Given the description of an element on the screen output the (x, y) to click on. 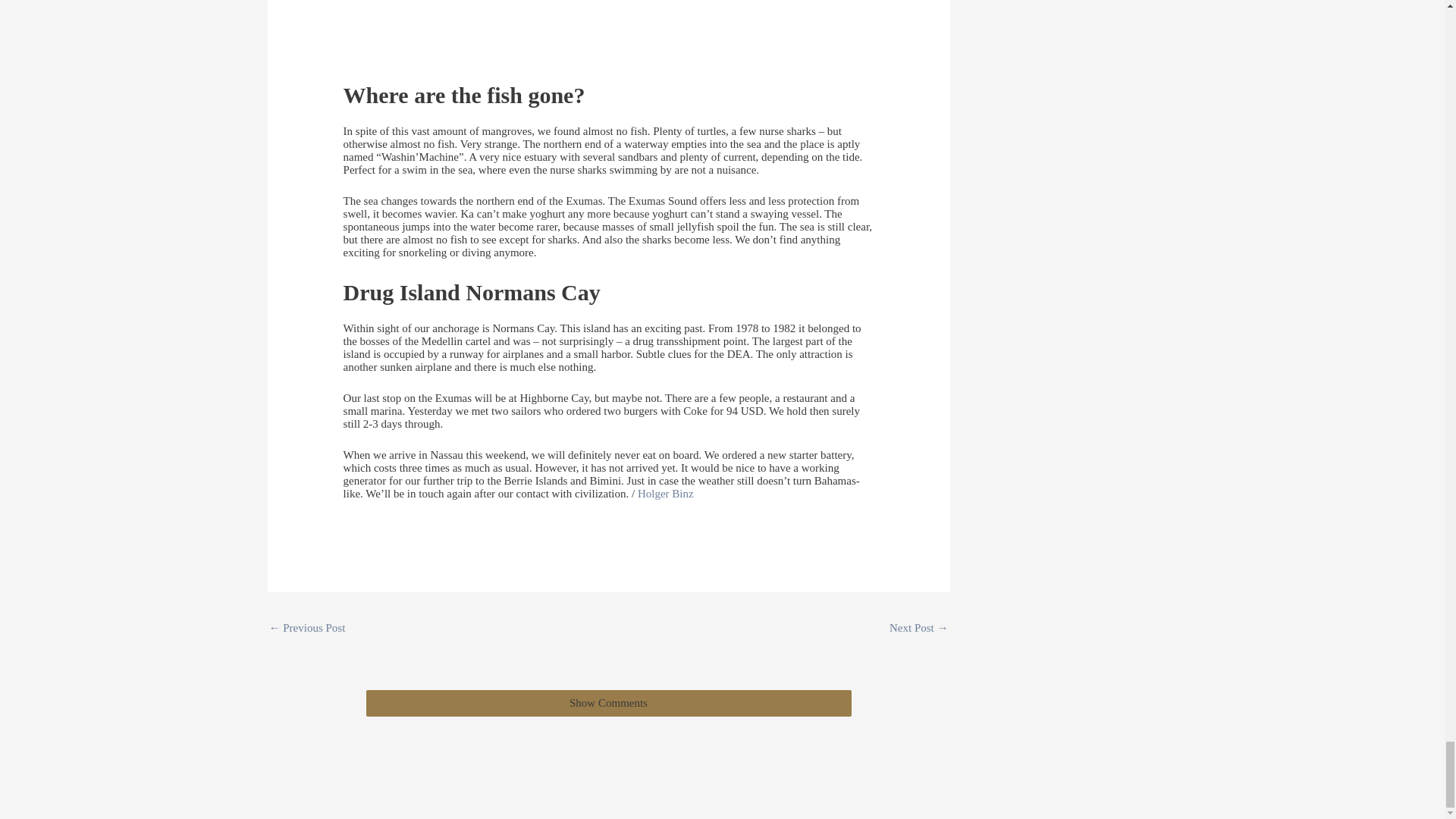
Holger Binz (665, 493)
Exumas to Nassau, New Providence (919, 629)
Bahamas Exumas 3 (306, 629)
